Given the description of an element on the screen output the (x, y) to click on. 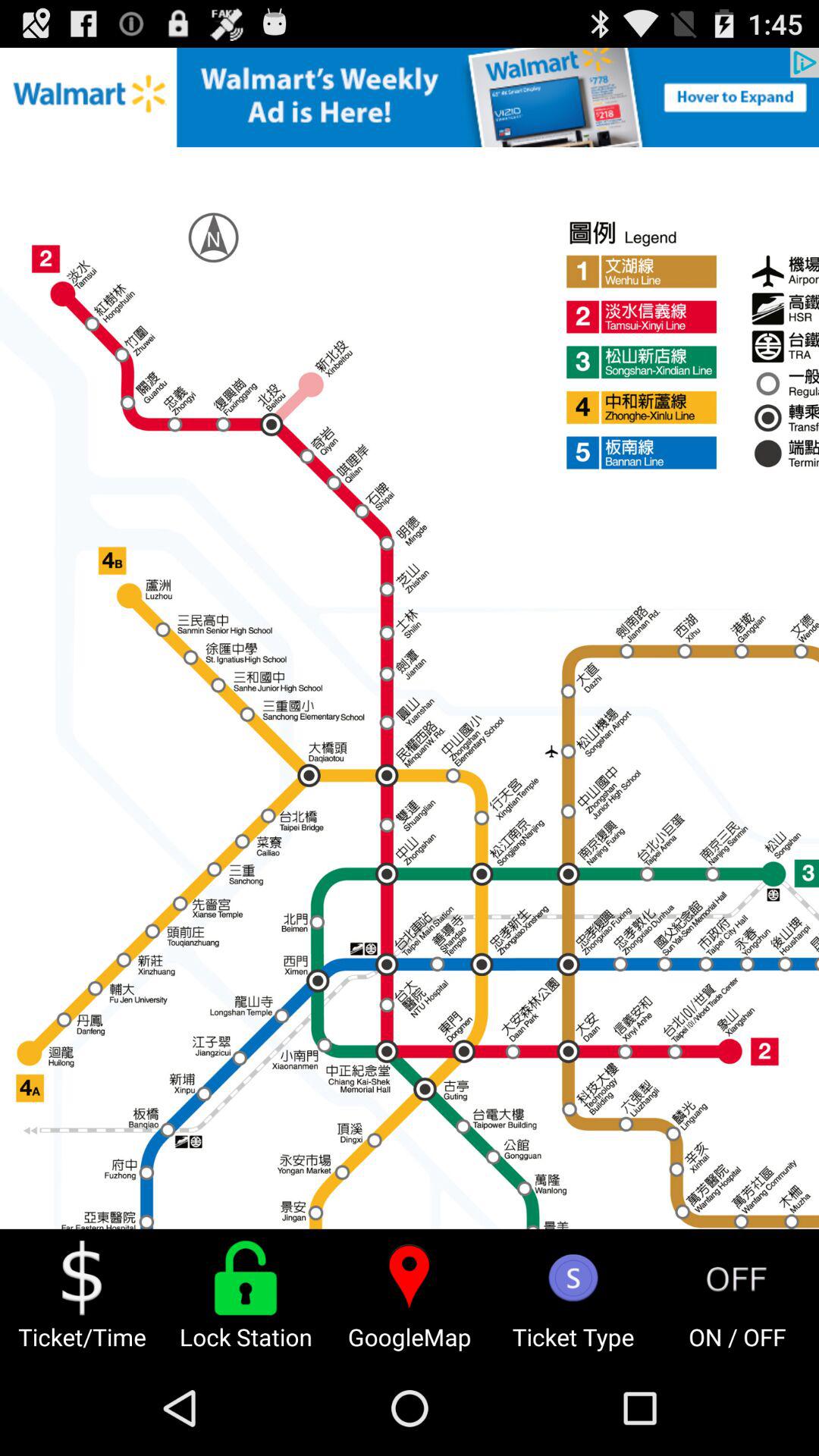
off button (737, 1277)
